Given the description of an element on the screen output the (x, y) to click on. 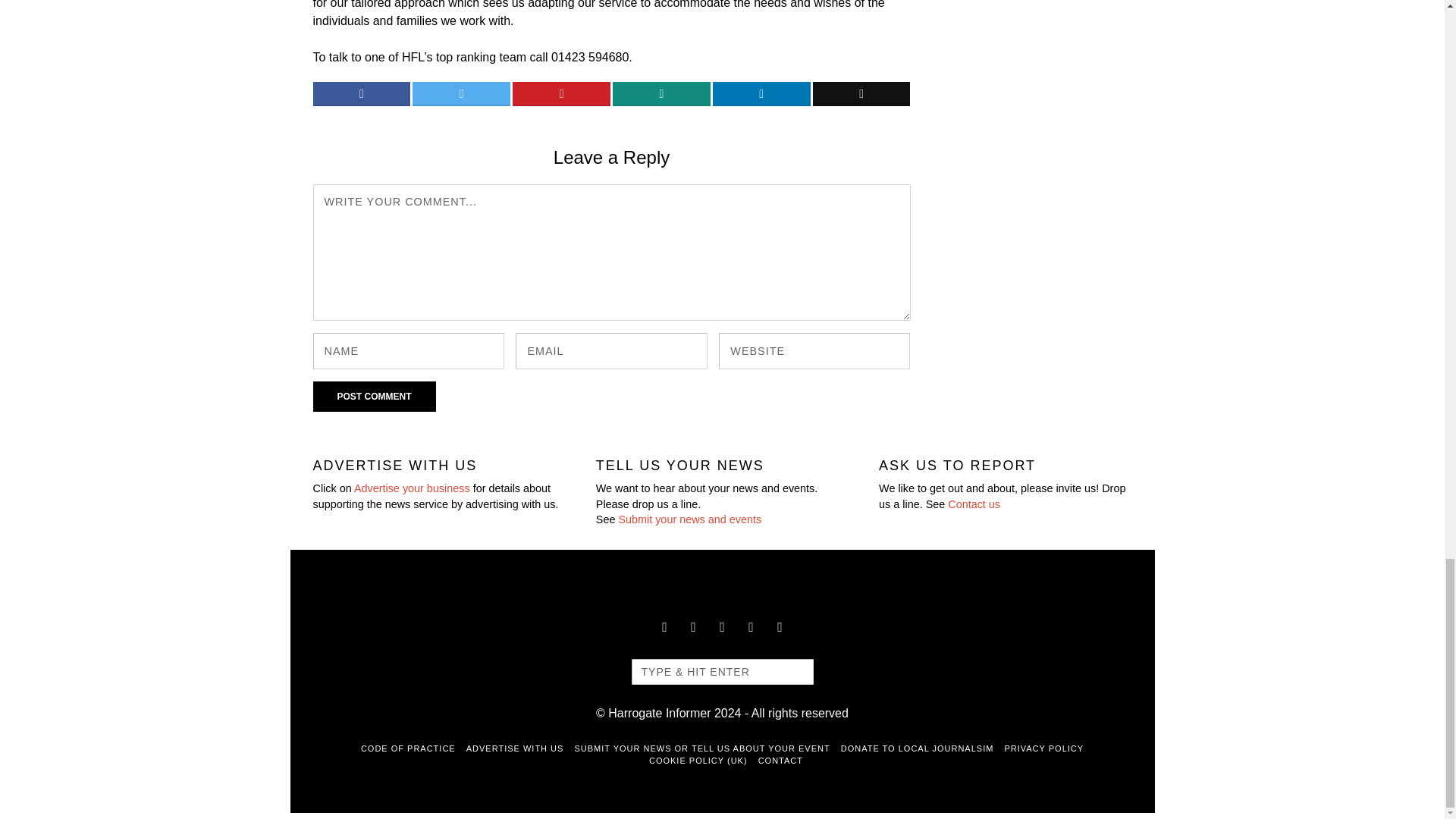
Contact us (973, 503)
Post Comment (374, 396)
Submit your news and events (689, 519)
Post Comment (374, 396)
Go (794, 671)
Advertise your business (411, 488)
